Given the description of an element on the screen output the (x, y) to click on. 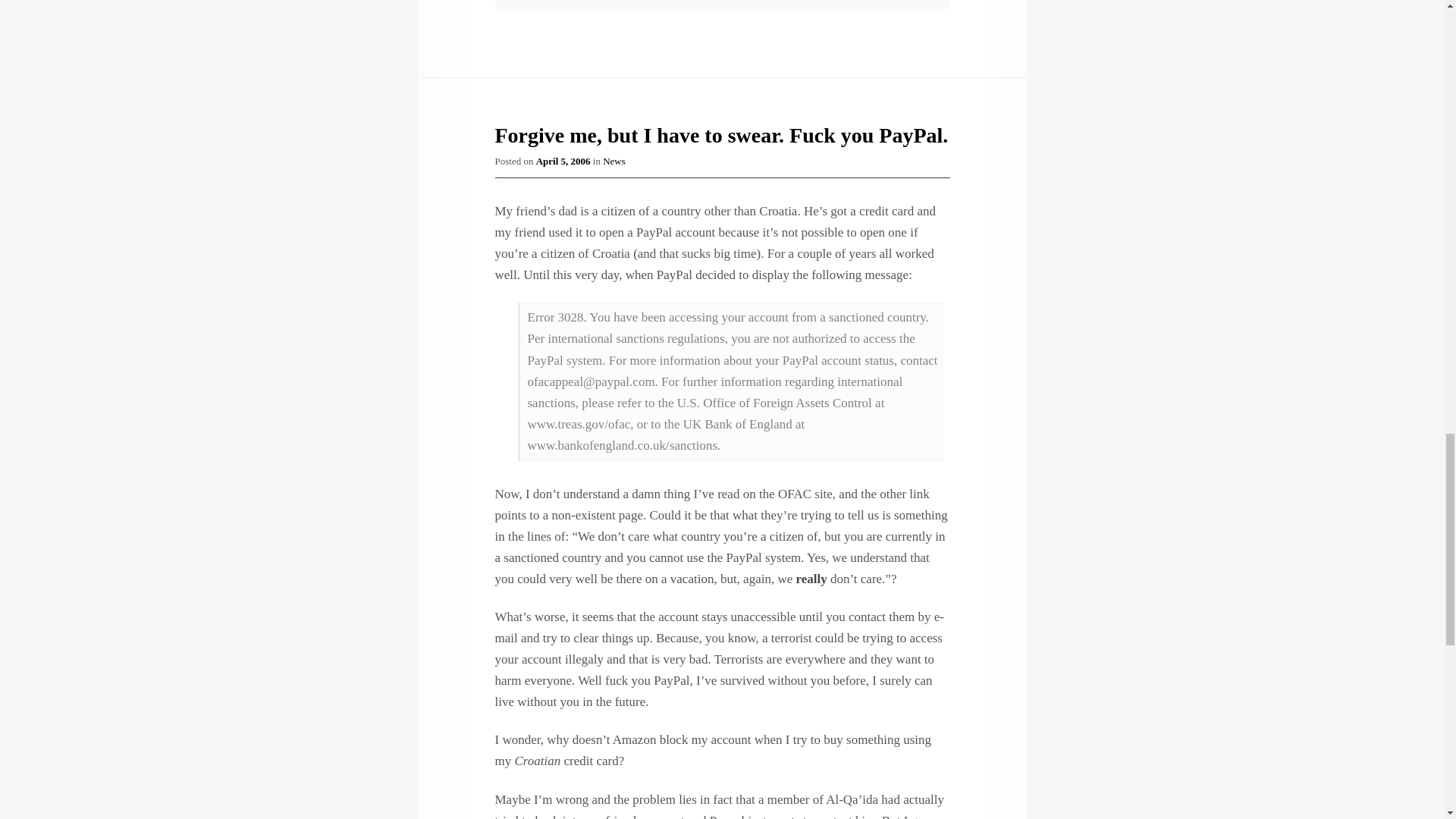
11:19 pm (563, 161)
